Given the description of an element on the screen output the (x, y) to click on. 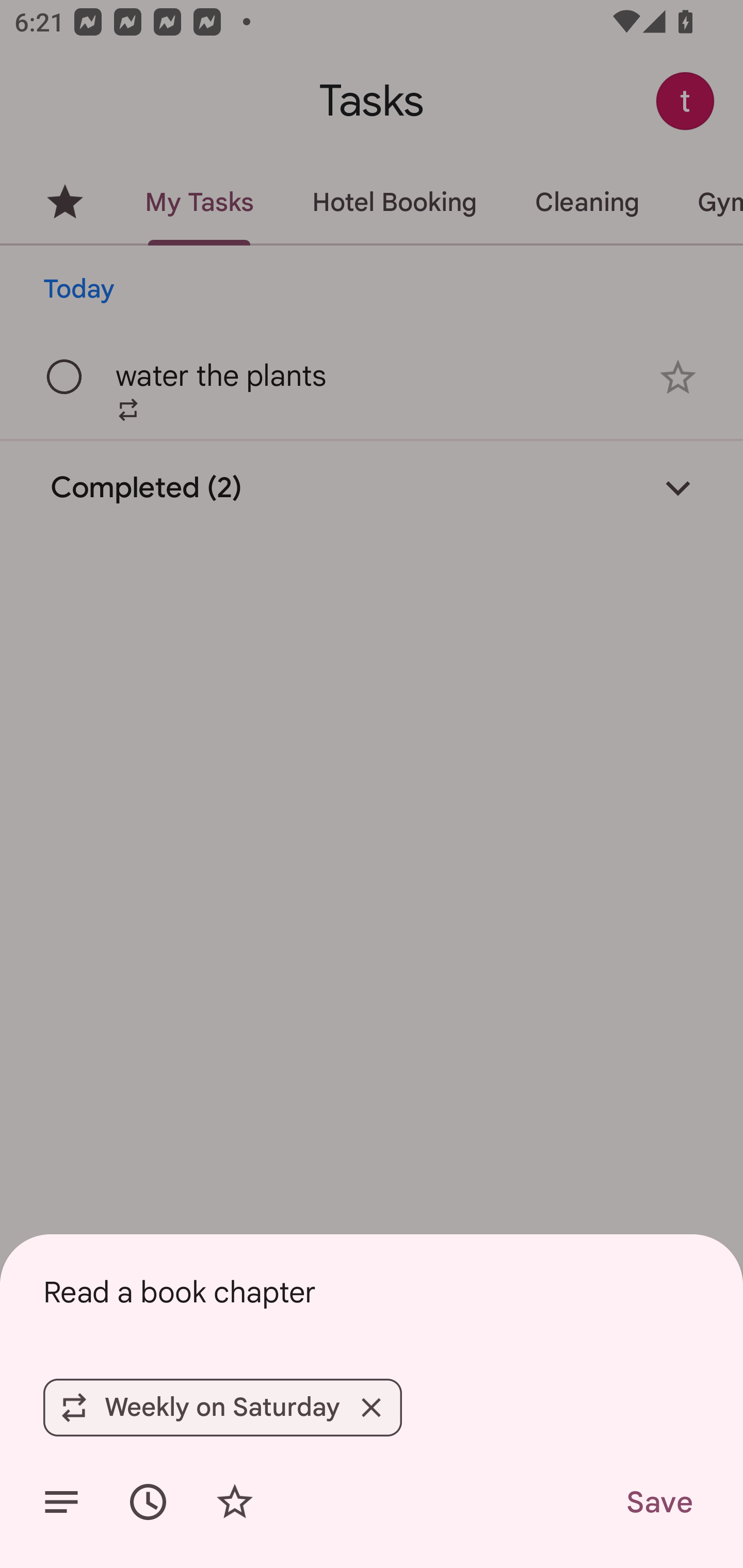
Read a book chapter (371, 1291)
Weekly on Saturday Remove Weekly on Saturday (222, 1407)
Save (659, 1501)
Add details (60, 1501)
Set date/time (147, 1501)
Add star (234, 1501)
